Given the description of an element on the screen output the (x, y) to click on. 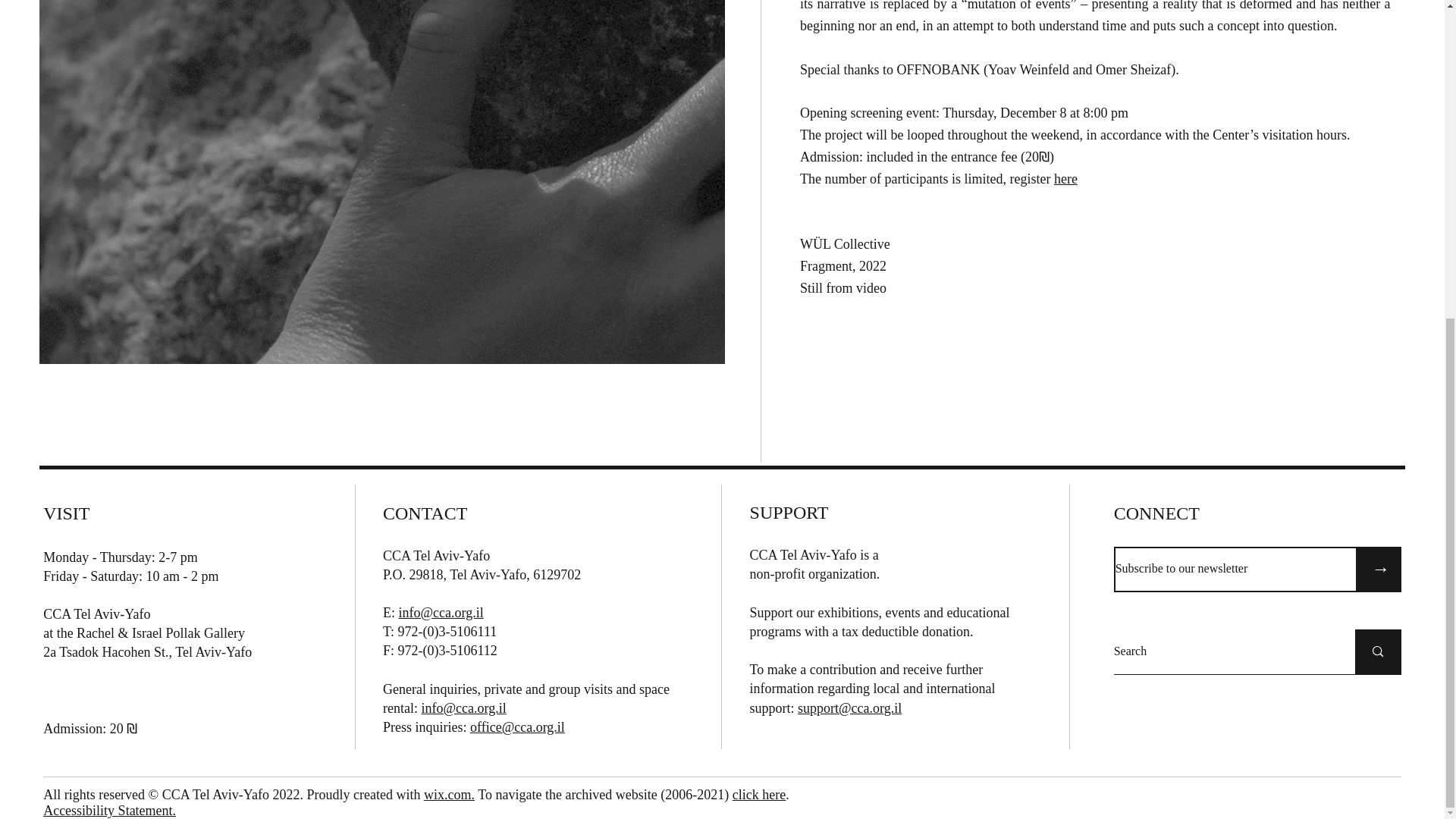
wix.com. (448, 794)
Accessibility Statement. (109, 810)
click here (759, 794)
here (1065, 178)
